Given the description of an element on the screen output the (x, y) to click on. 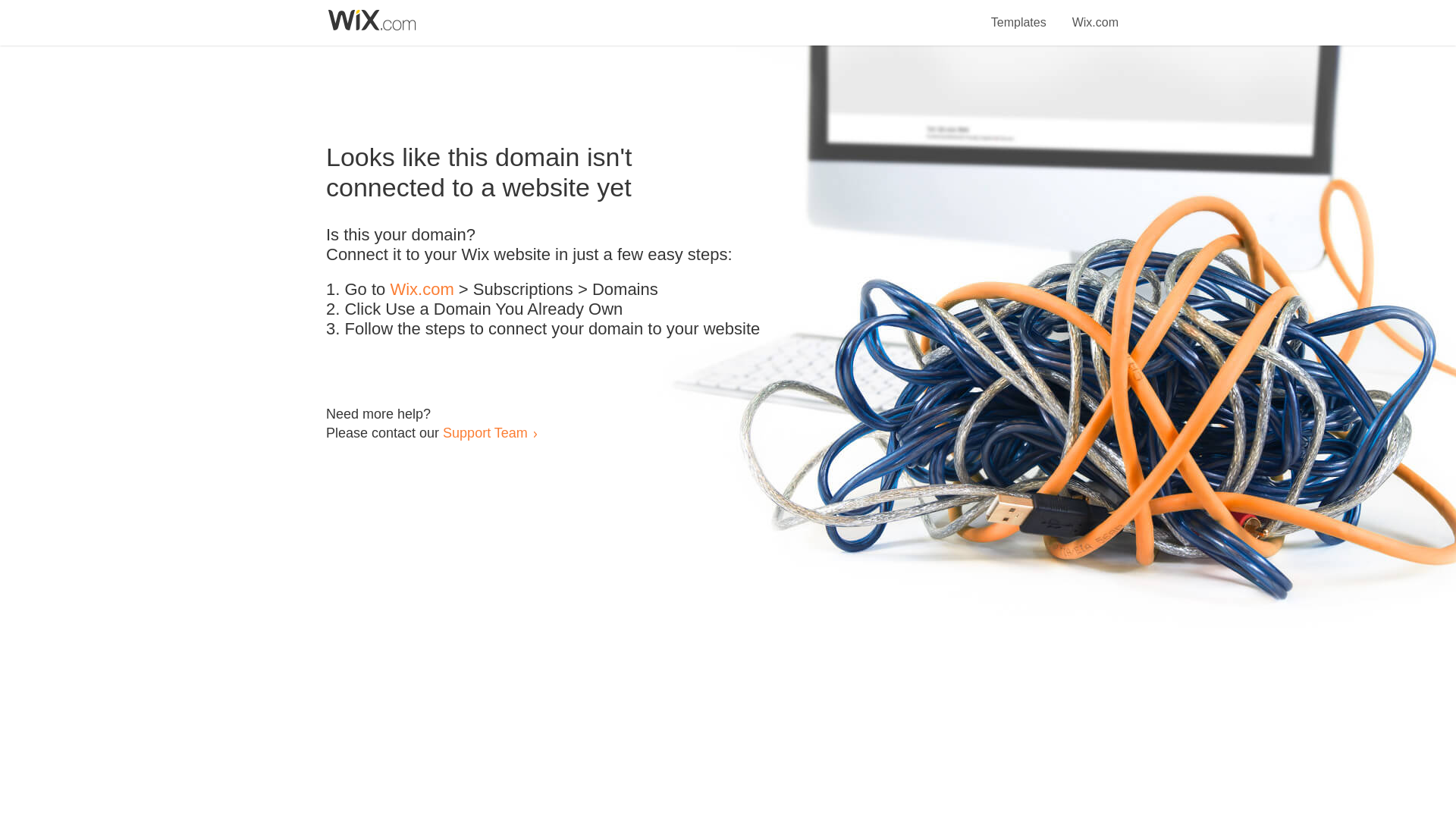
Templates (1018, 14)
Wix.com (1095, 14)
Support Team (484, 432)
Wix.com (421, 289)
